Given the description of an element on the screen output the (x, y) to click on. 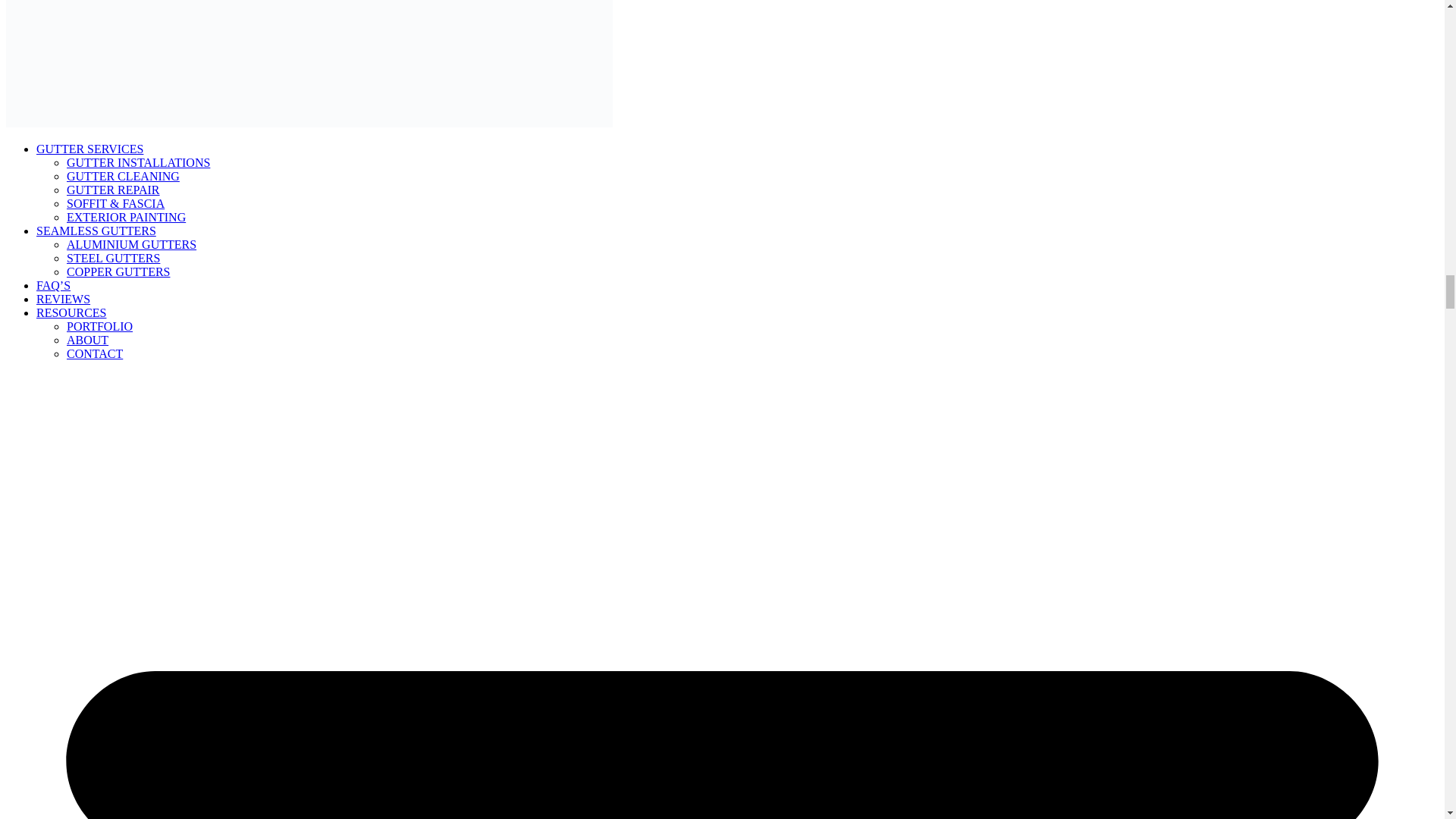
GUTTER SERVICES (89, 148)
GUTTER CLEANING (122, 175)
GUTTER INSTALLATIONS (137, 162)
GUTTER REPAIR (113, 189)
